Given the description of an element on the screen output the (x, y) to click on. 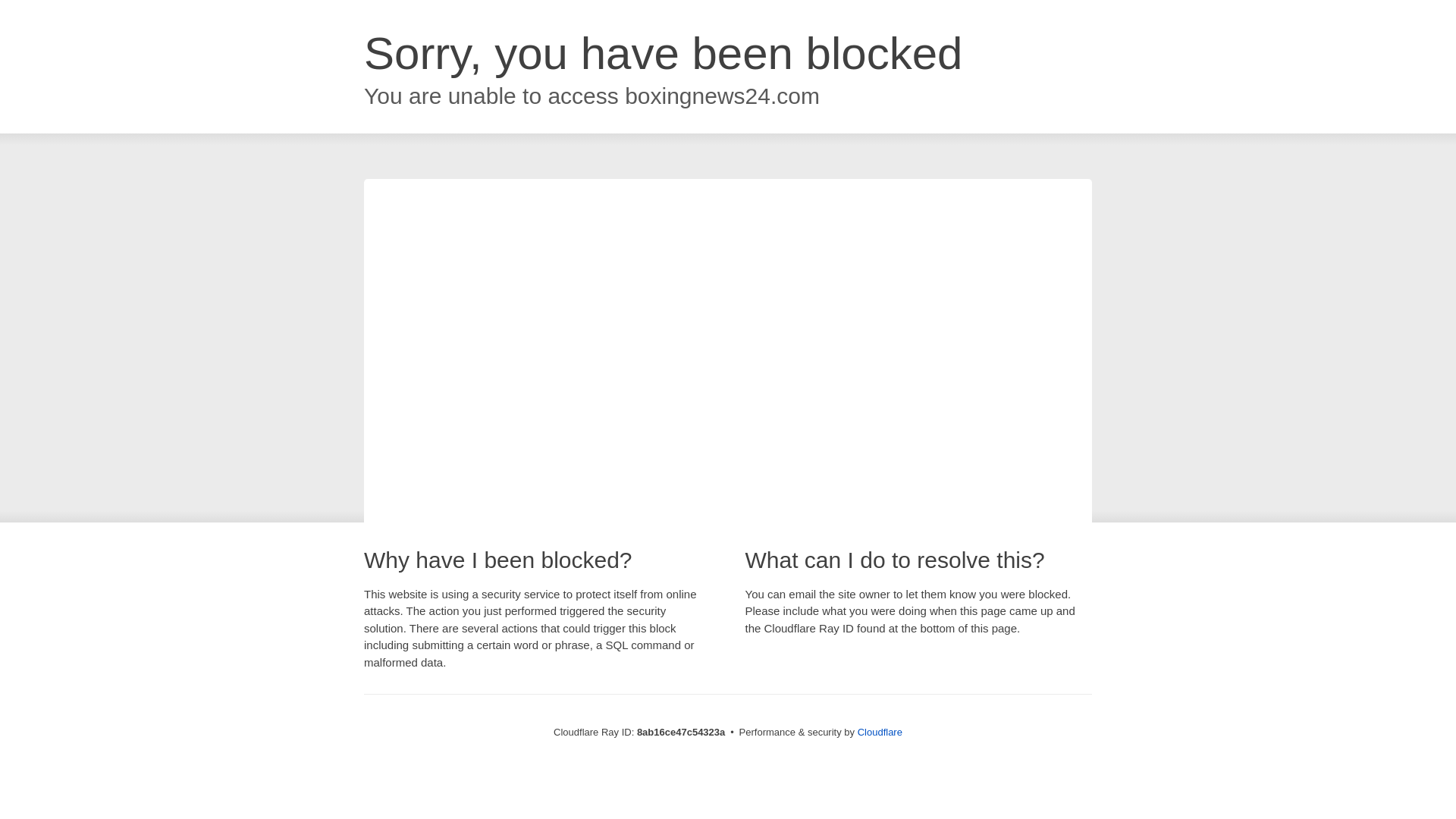
Cloudflare (879, 731)
